Given the description of an element on the screen output the (x, y) to click on. 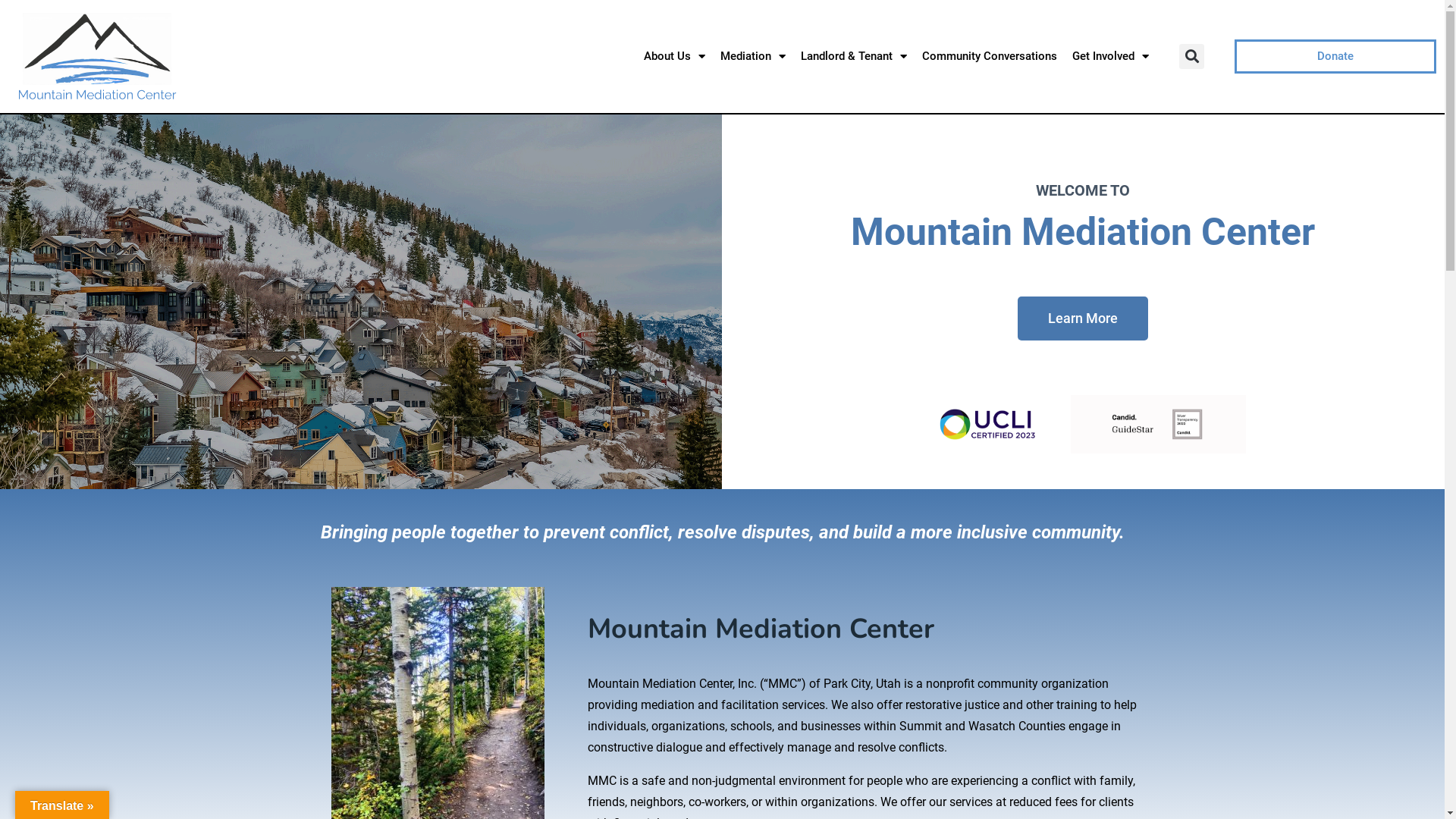
Community Conversations Element type: text (989, 55)
About Us Element type: text (674, 55)
Get Involved Element type: text (1110, 55)
Donate Element type: text (1335, 56)
Learn More Element type: text (1082, 318)
Mediation Element type: text (752, 55)
Landlord & Tenant Element type: text (853, 55)
